Given the description of an element on the screen output the (x, y) to click on. 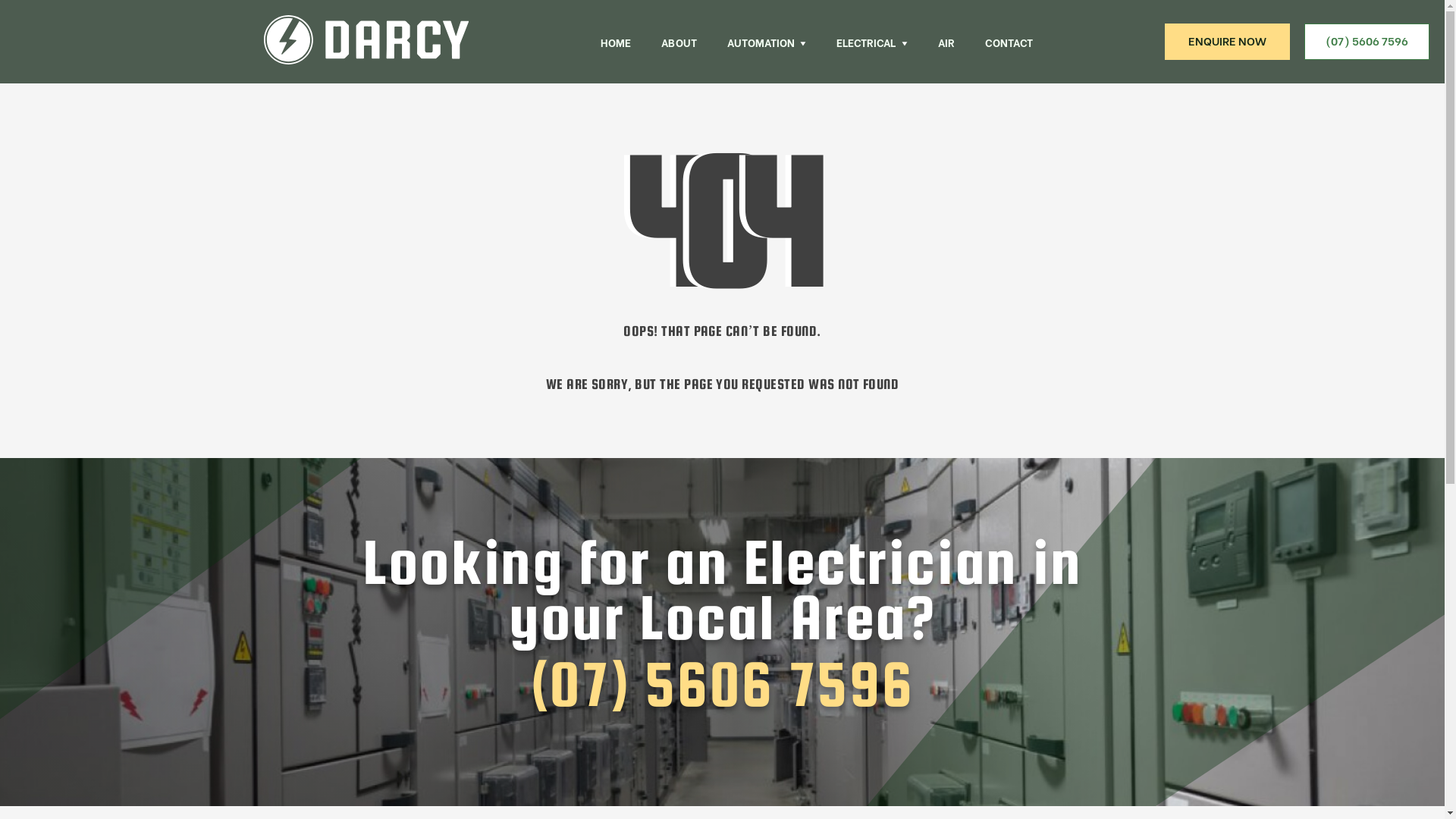
HOME Element type: text (615, 42)
ABOUT Element type: text (678, 42)
AUTOMATION Element type: text (760, 42)
AIR Element type: text (946, 42)
(07) 5606 7596 Element type: text (722, 683)
(07) 5606 7596 Element type: text (1366, 41)
ELECTRICAL Element type: text (865, 42)
CONTACT Element type: text (1008, 42)
ENQUIRE NOW Element type: text (1226, 41)
